Given the description of an element on the screen output the (x, y) to click on. 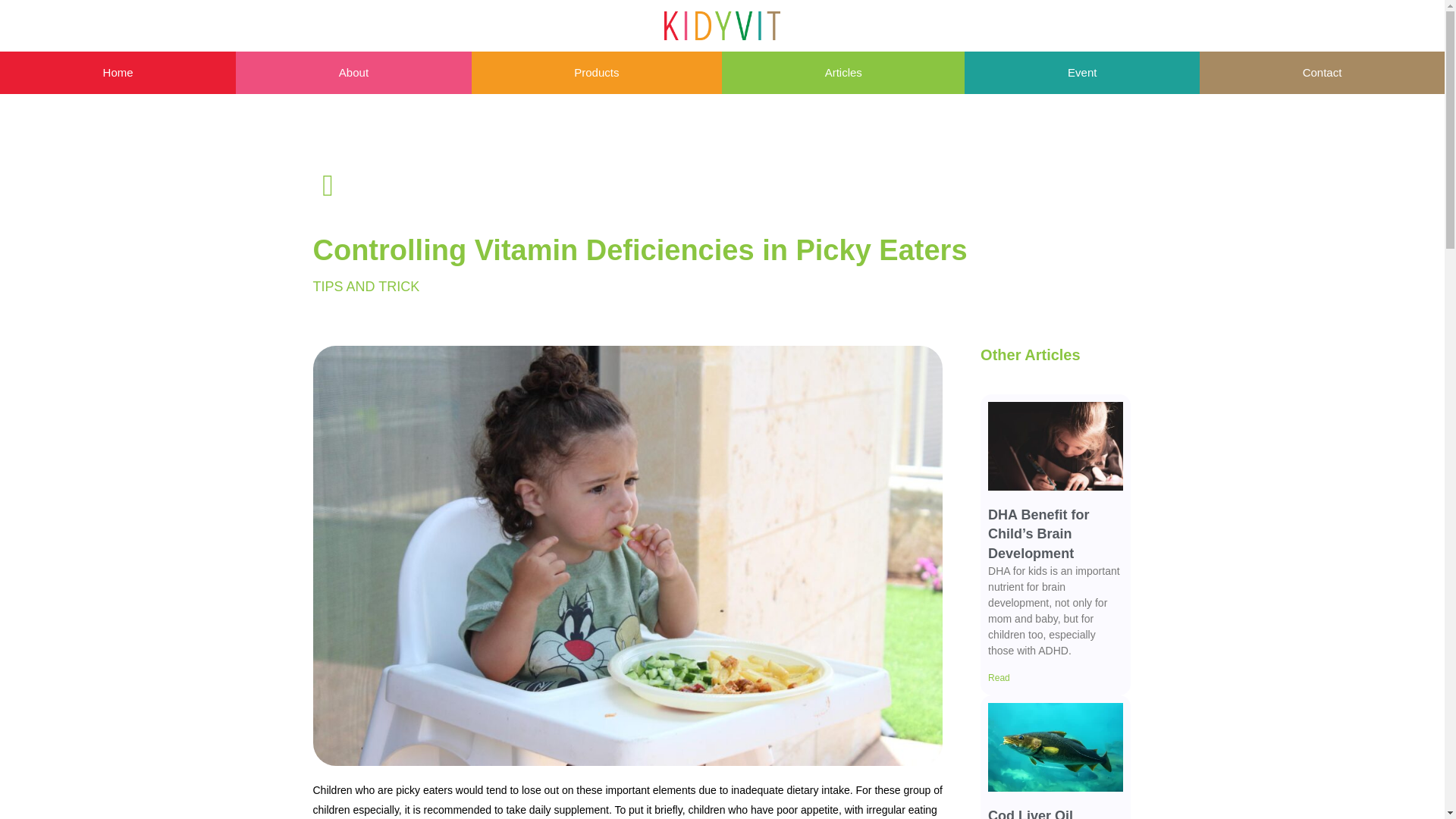
Event (1081, 72)
Read (999, 677)
Articles (842, 72)
Home (117, 72)
About (352, 72)
TIPS AND TRICK (366, 286)
Products (596, 72)
Cod Liver Oil Healthy Benefit for Kids (1048, 813)
